Given the description of an element on the screen output the (x, y) to click on. 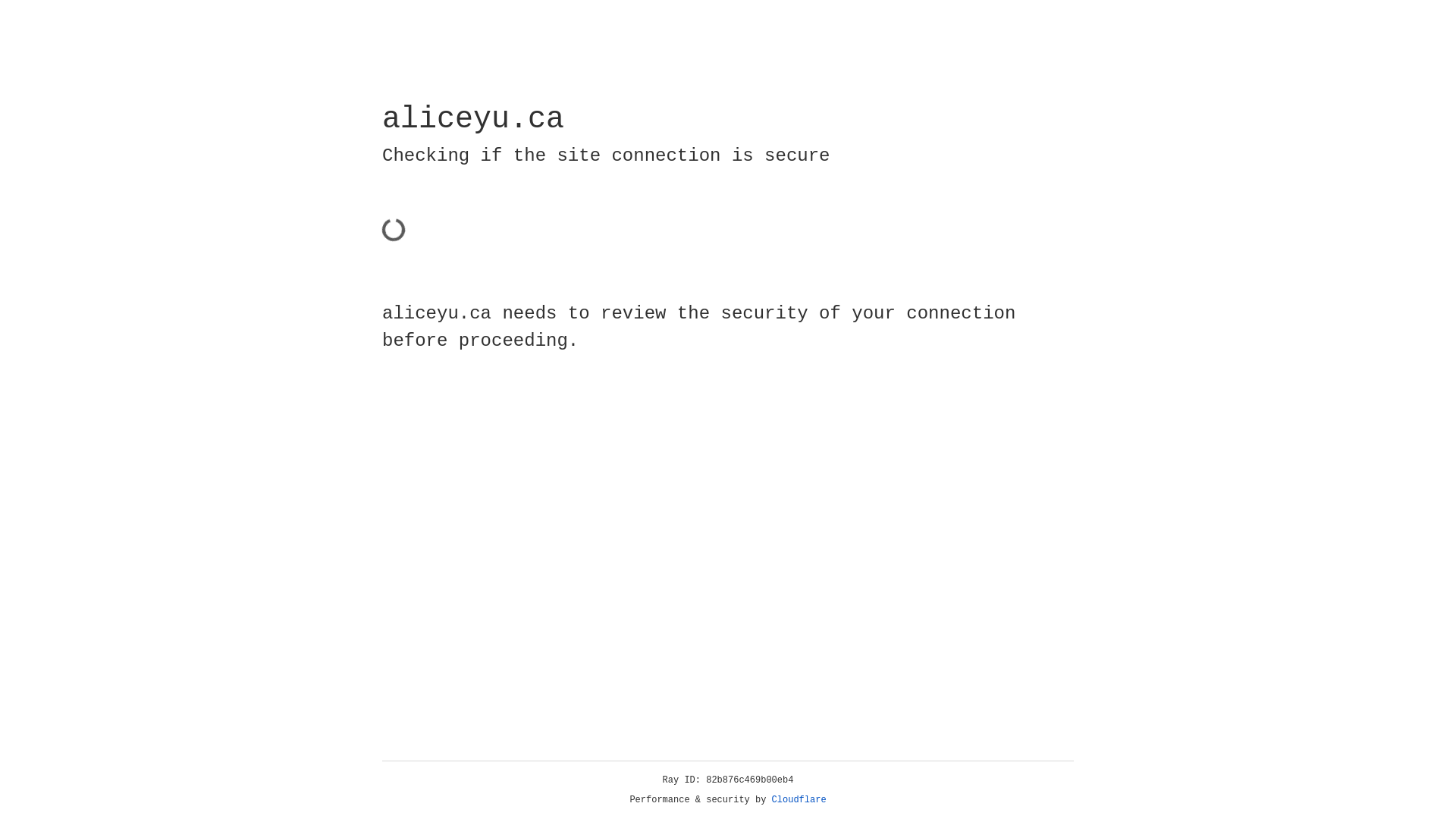
Cloudflare Element type: text (798, 799)
